Given the description of an element on the screen output the (x, y) to click on. 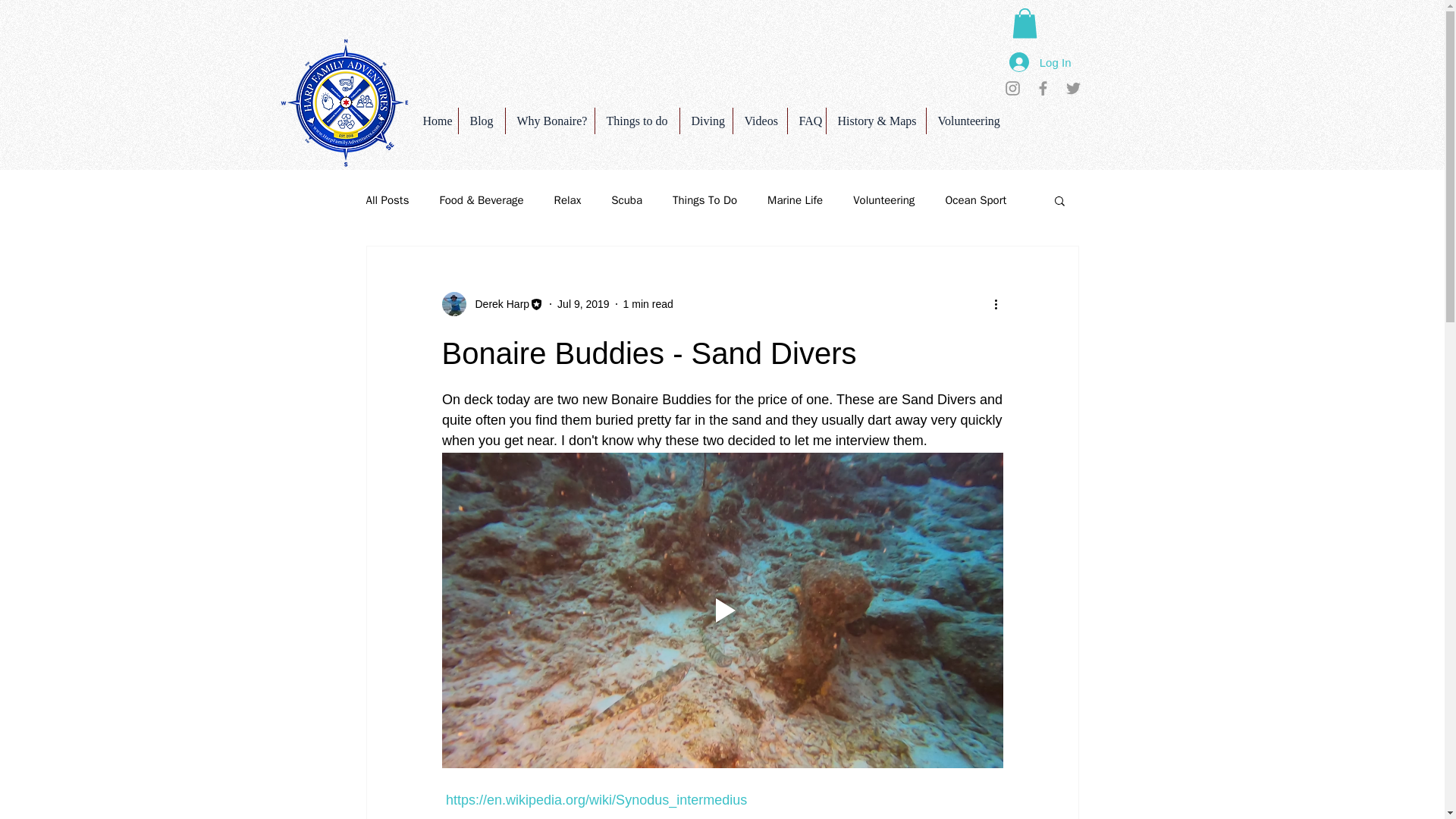
FAQ (806, 120)
Log In (1039, 61)
Home (433, 120)
Videos (759, 120)
Derek Harp (492, 303)
Volunteering (970, 120)
Diving (705, 120)
Blog (480, 120)
Things To Do (704, 200)
Derek Harp (497, 304)
